Given the description of an element on the screen output the (x, y) to click on. 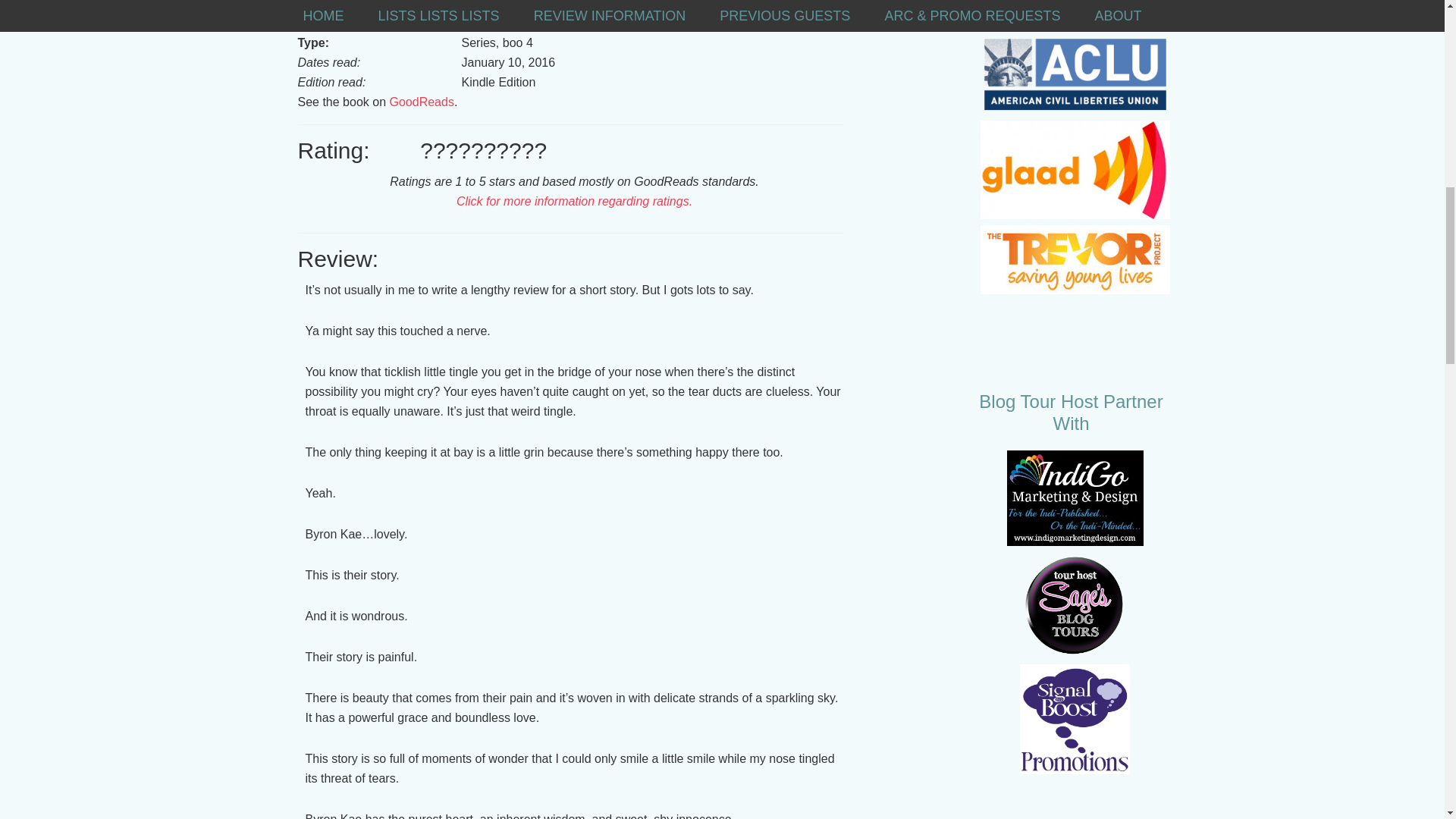
GoodReads (420, 101)
IndiGo (1074, 498)
Sage's (1075, 605)
TrevorProject (1074, 259)
SignalBoost (1074, 718)
Click for more information regarding ratings. (575, 201)
ACLU (1074, 74)
Glaad (1074, 169)
